Given the description of an element on the screen output the (x, y) to click on. 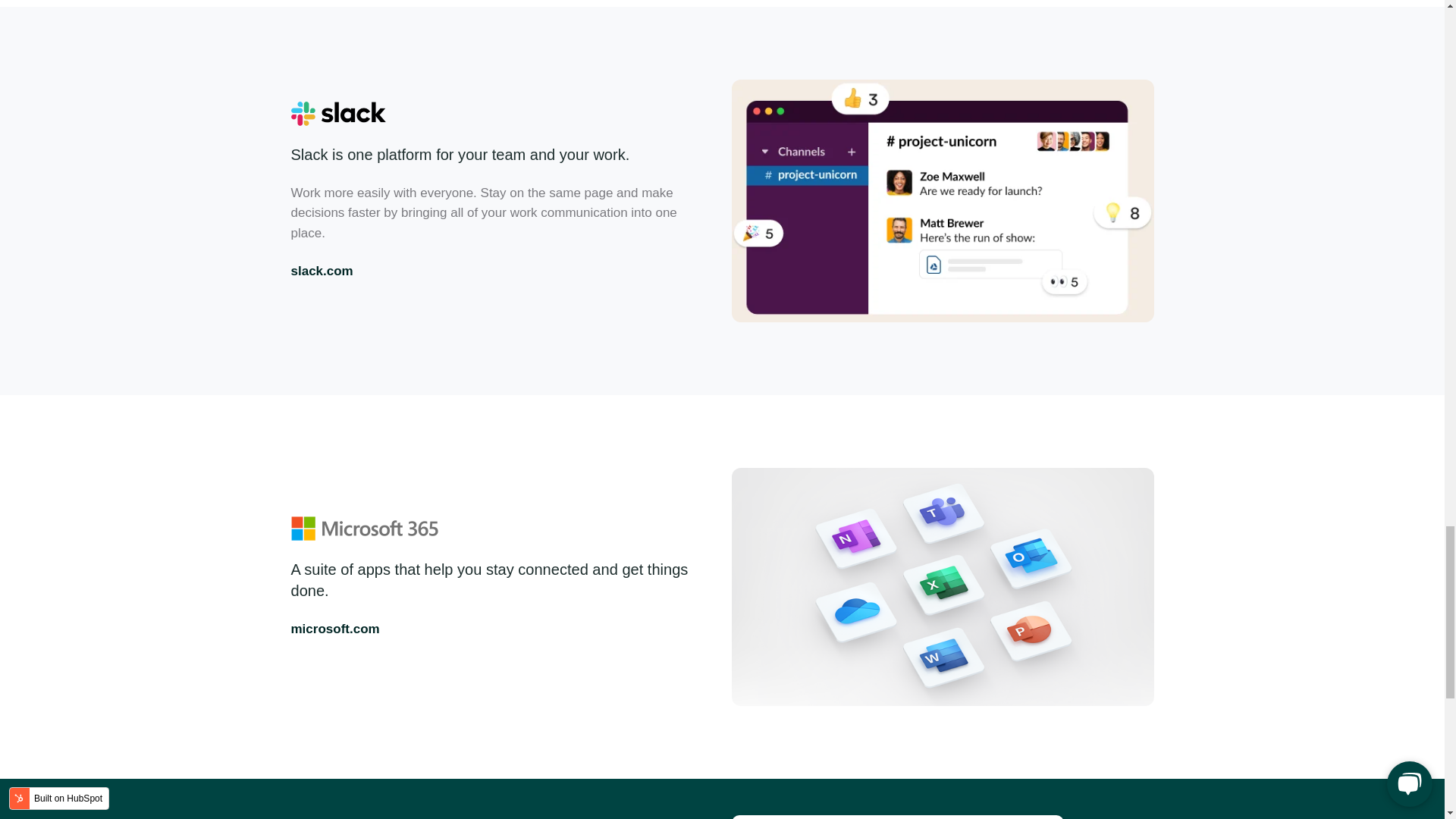
Get a 30-min consultation (896, 816)
microsoft.com (335, 628)
slack.com (322, 270)
